Given the description of an element on the screen output the (x, y) to click on. 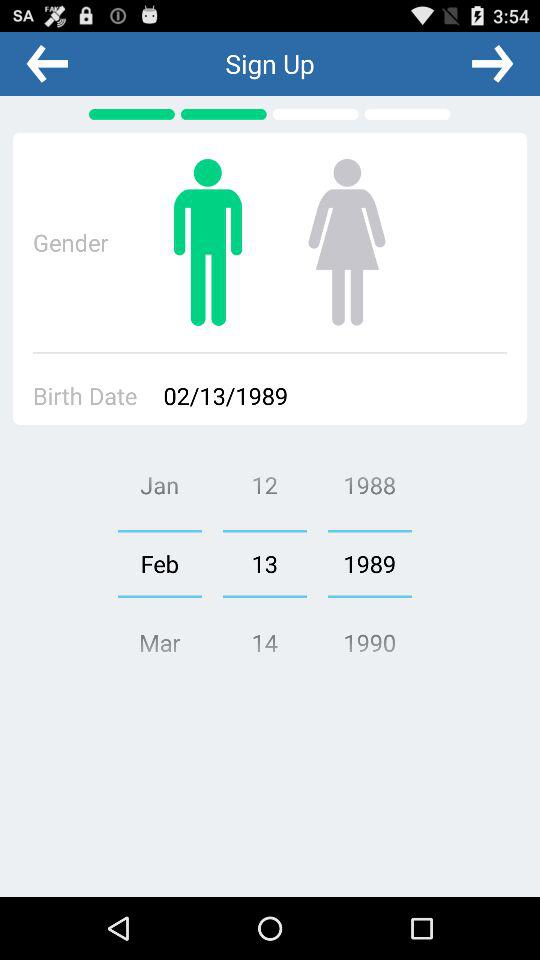
choose item next to 13 (159, 563)
